Given the description of an element on the screen output the (x, y) to click on. 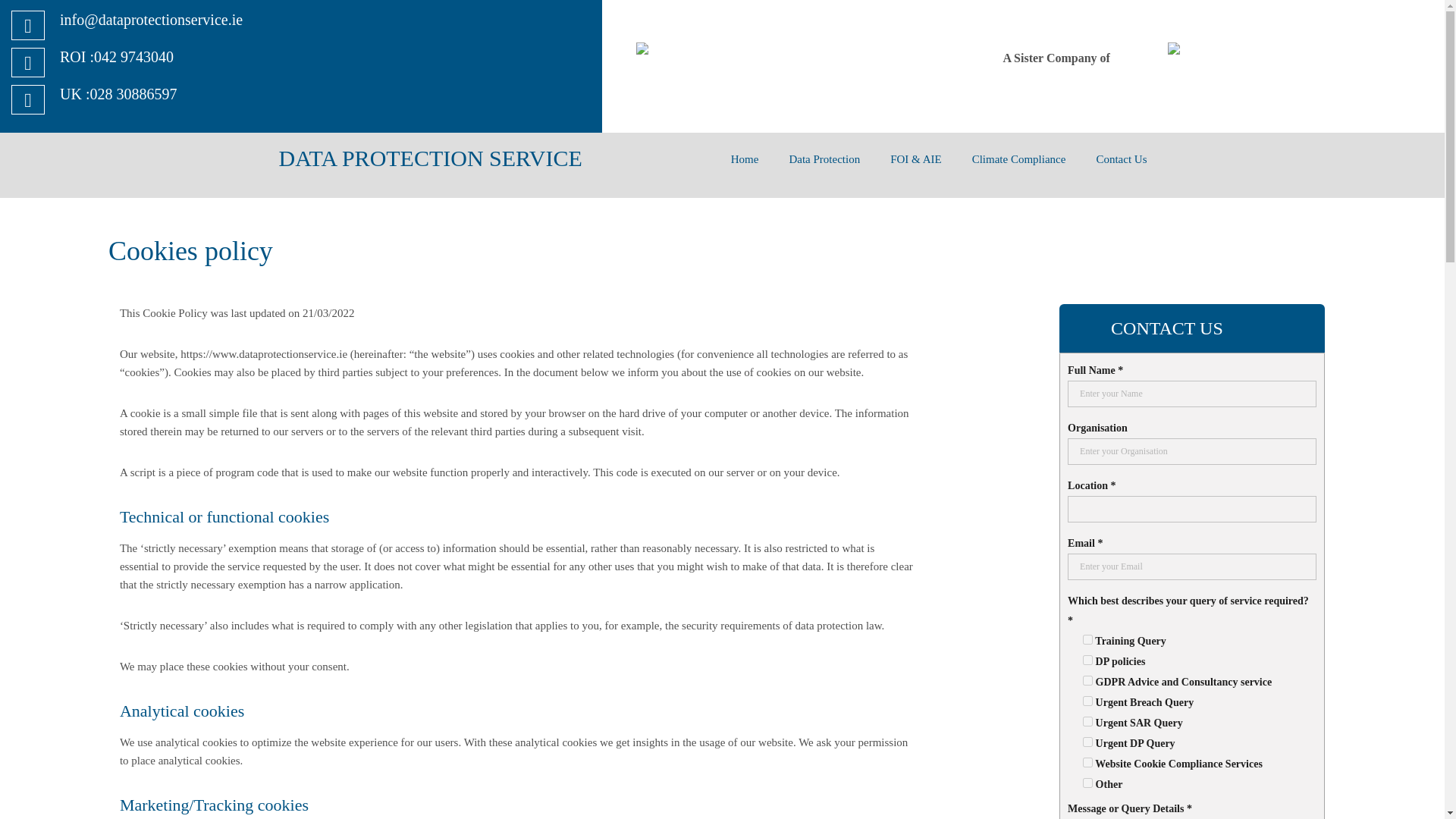
Data Protection (823, 157)
Urgent Breach Query (1088, 700)
DATA PROTECTION SERVICE (430, 157)
Contact Us (1120, 157)
042 9743040 (133, 56)
Other (1088, 782)
Home (744, 157)
DP policies (1088, 660)
028 30886597 (132, 93)
Climate Compliance (1018, 157)
